Given the description of an element on the screen output the (x, y) to click on. 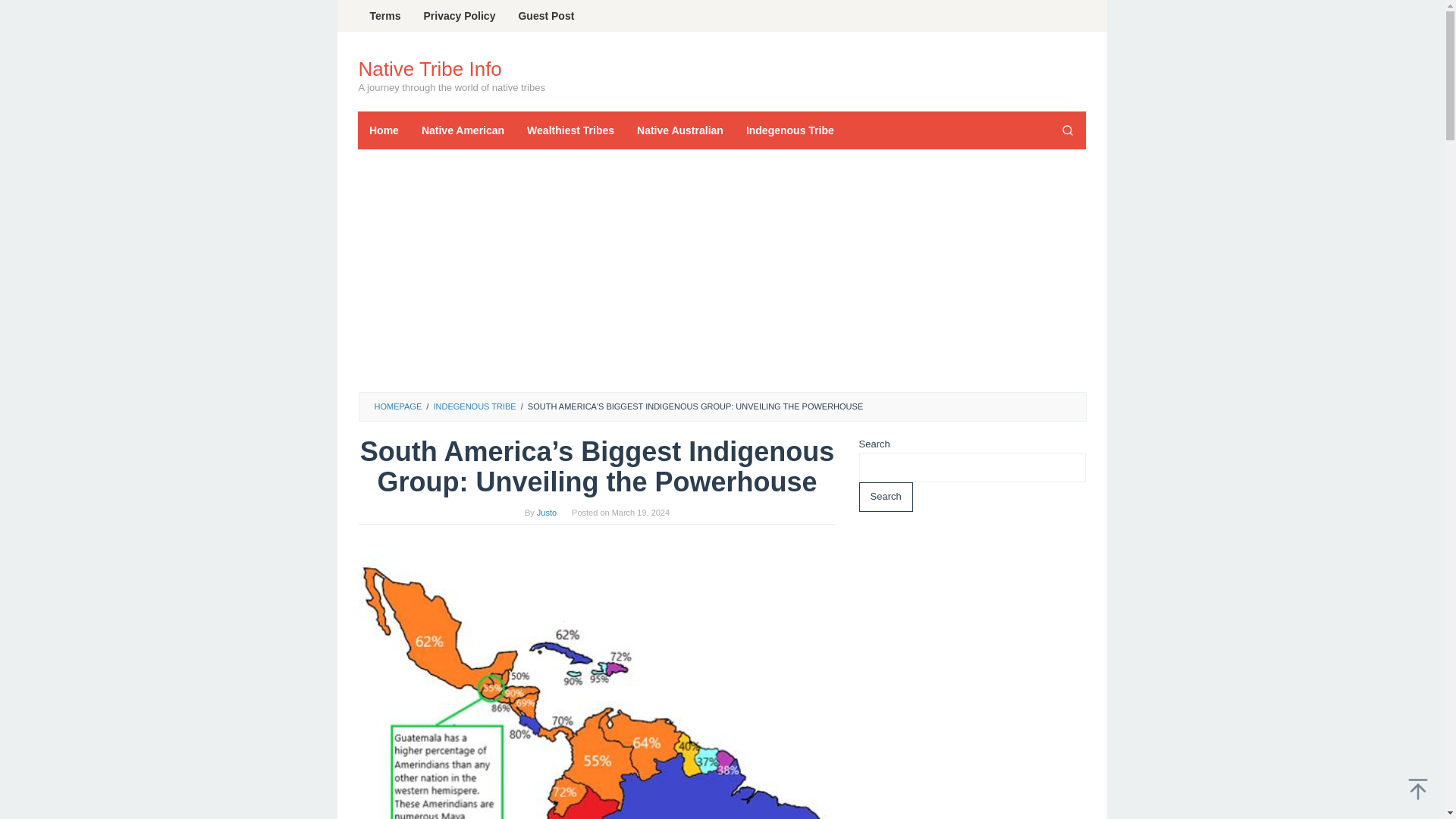
Native Tribe Info (429, 68)
HOMEPAGE (398, 406)
Native American (462, 130)
Native Tribe Info (429, 68)
Wealthiest Tribes (571, 130)
Native Australian (680, 130)
INDEGENOUS TRIBE (473, 406)
Indegenous Tribe (790, 130)
